Given the description of an element on the screen output the (x, y) to click on. 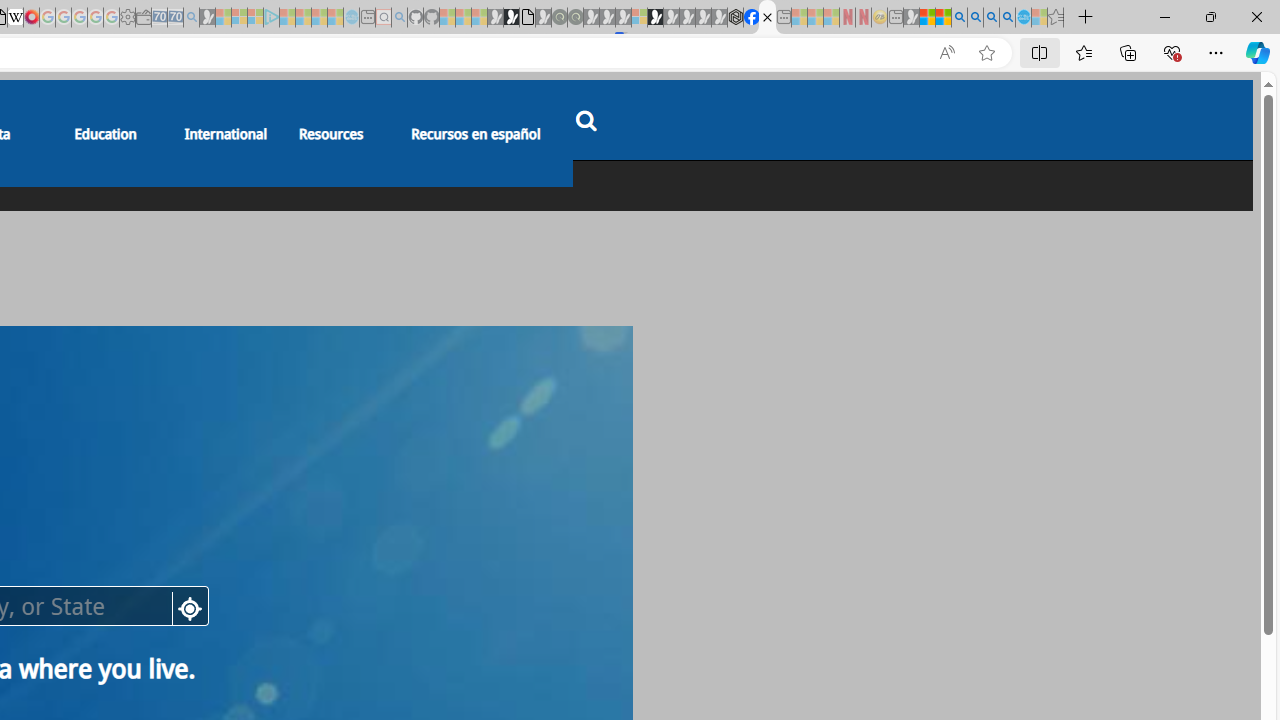
Nordace | Facebook (751, 17)
Services - Maintenance | Sky Blue Bikes - Sky Blue Bikes (1023, 17)
Class: main-link dropbtn-nav-link (475, 133)
